Given the description of an element on the screen output the (x, y) to click on. 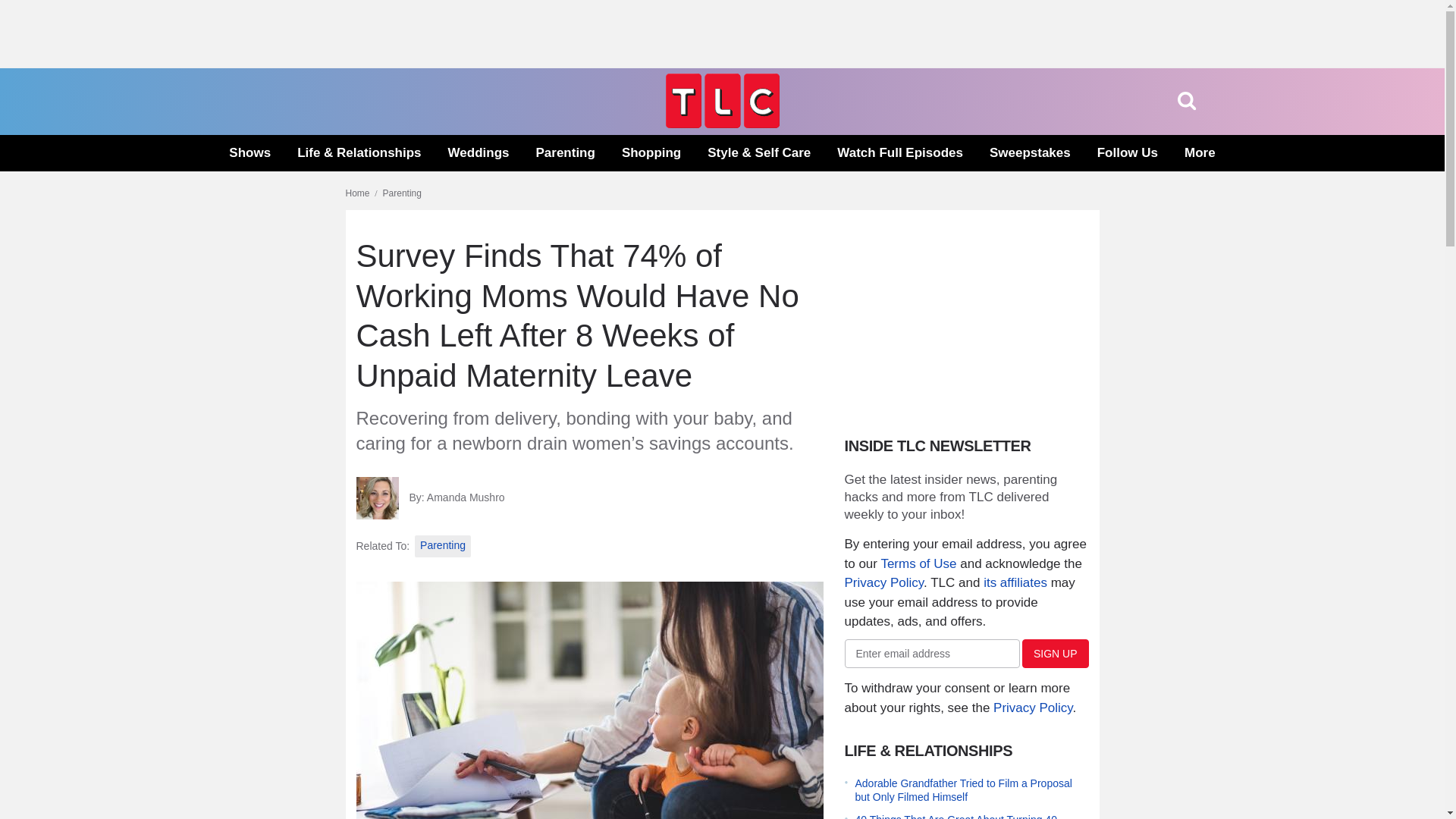
Shows (249, 153)
Weddings (478, 153)
home (721, 124)
